Given the description of an element on the screen output the (x, y) to click on. 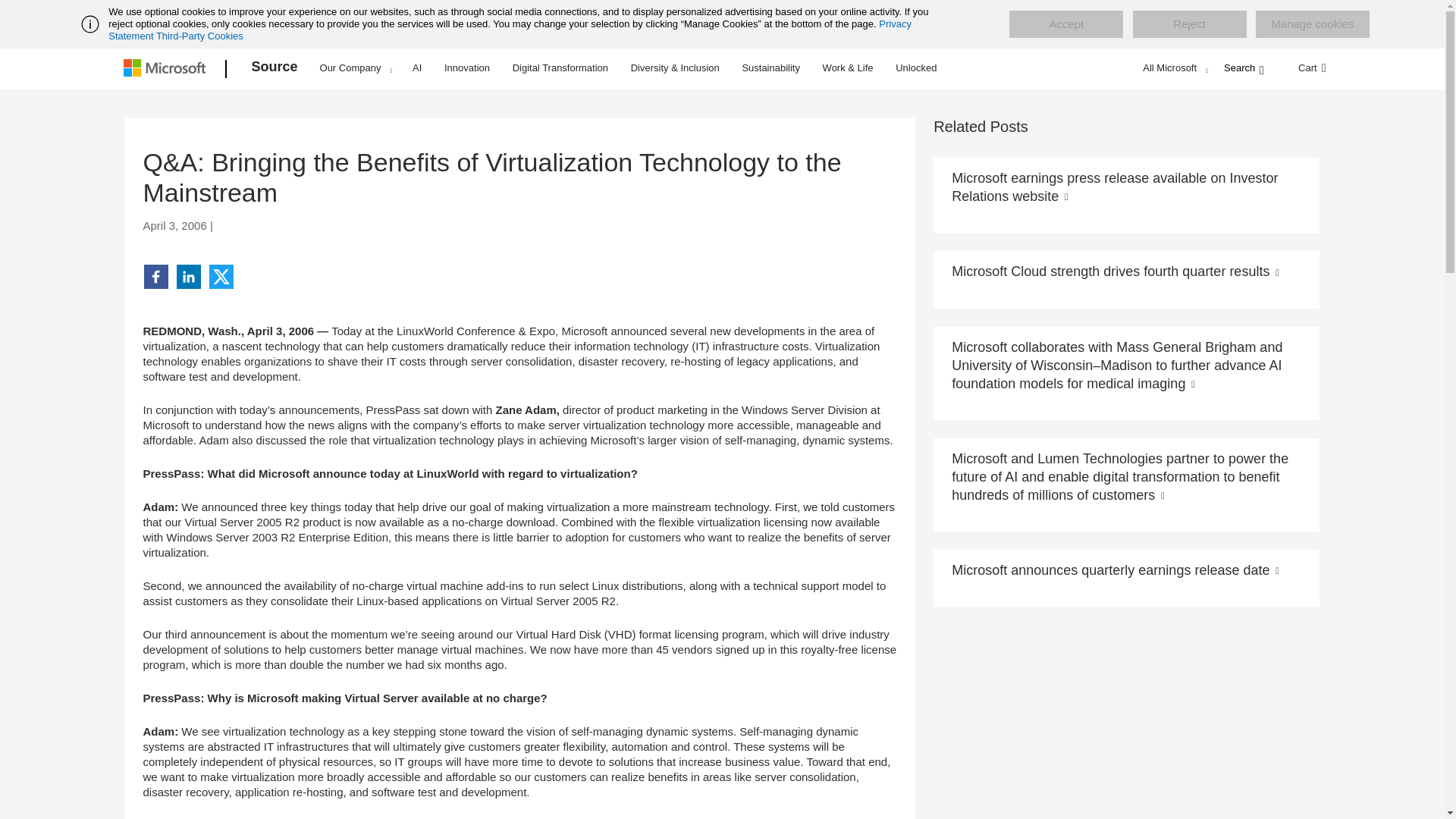
Source (274, 69)
Privacy Statement (509, 29)
Accept (1065, 23)
Innovation (467, 67)
Digital Transformation (559, 67)
Our Company (355, 67)
Reject (1189, 23)
Manage cookies (1312, 23)
Microsoft (167, 69)
